Given the description of an element on the screen output the (x, y) to click on. 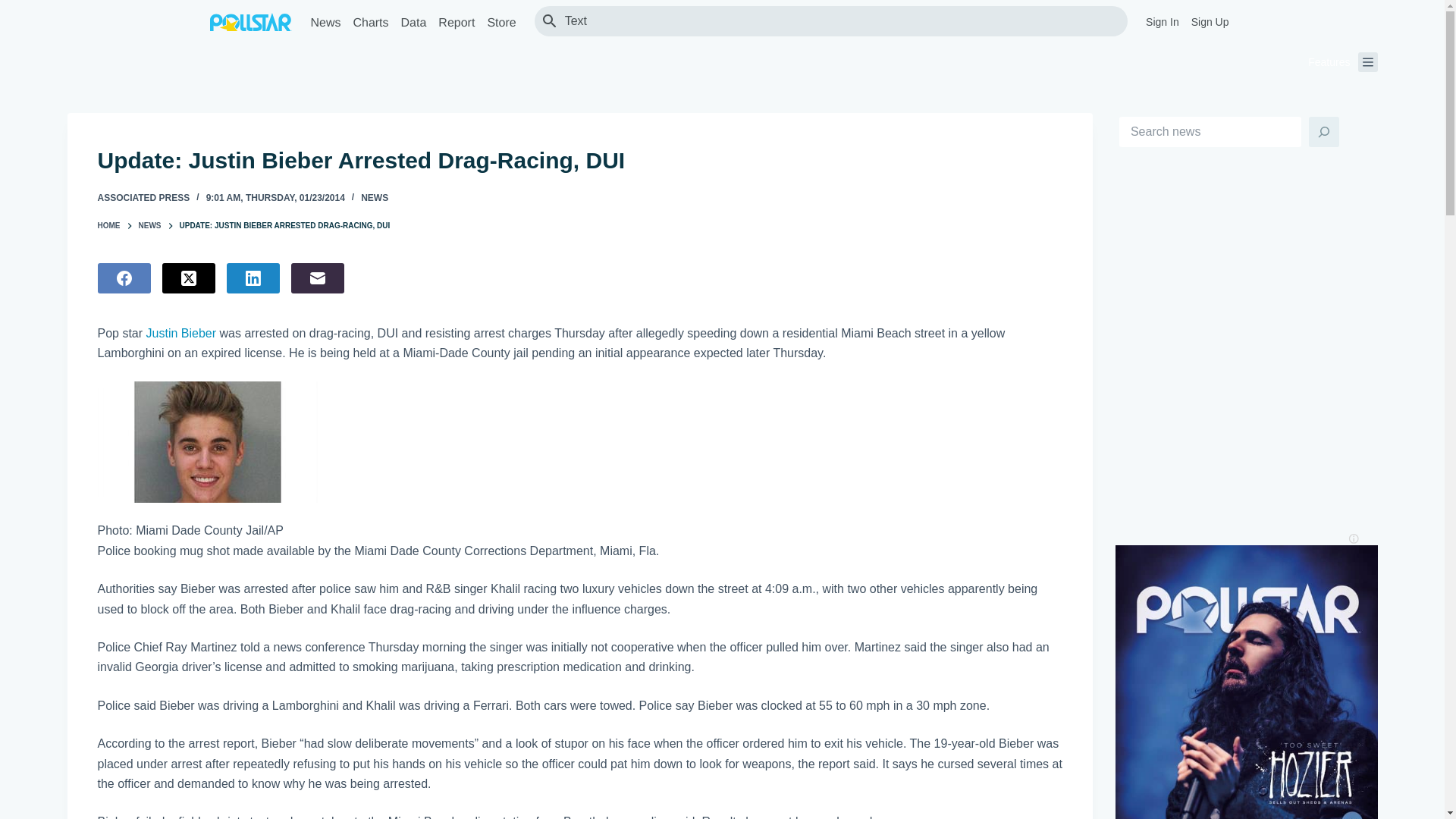
Posts by Associated Press (143, 197)
Text (838, 20)
Text (838, 20)
Skip to content (15, 7)
Update: Justin Bieber Arrested Drag-Racing, DUI (579, 160)
